Given the description of an element on the screen output the (x, y) to click on. 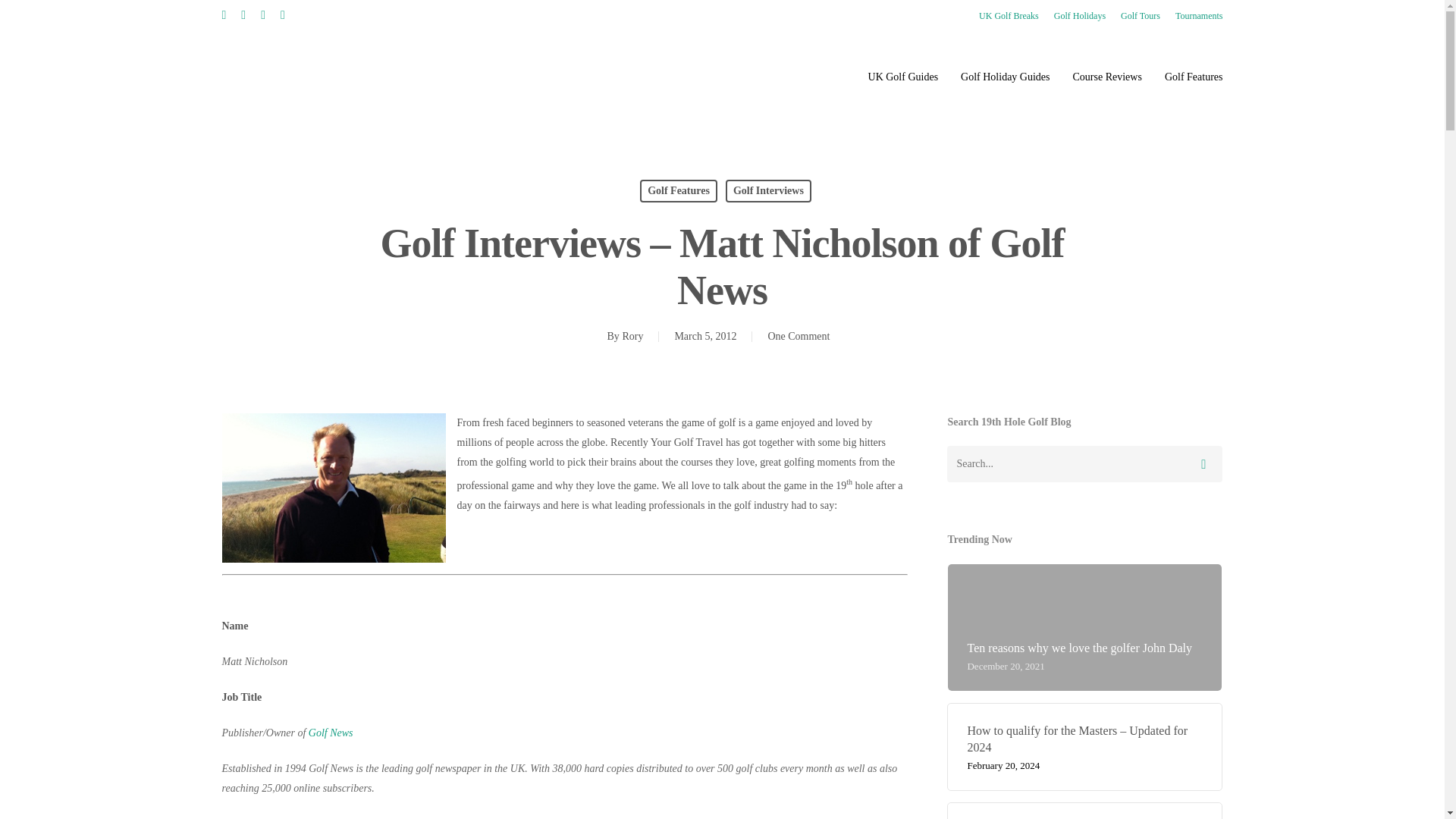
Course Reviews (1107, 77)
Posts by Rory (632, 336)
One Comment (798, 336)
Golf Holiday Guides (1004, 77)
Tournaments (1198, 15)
Golf Interviews (767, 190)
Golf News (330, 732)
Golf Features (678, 190)
Matt 1 (333, 487)
UK Golf Breaks (1008, 15)
